Given the description of an element on the screen output the (x, y) to click on. 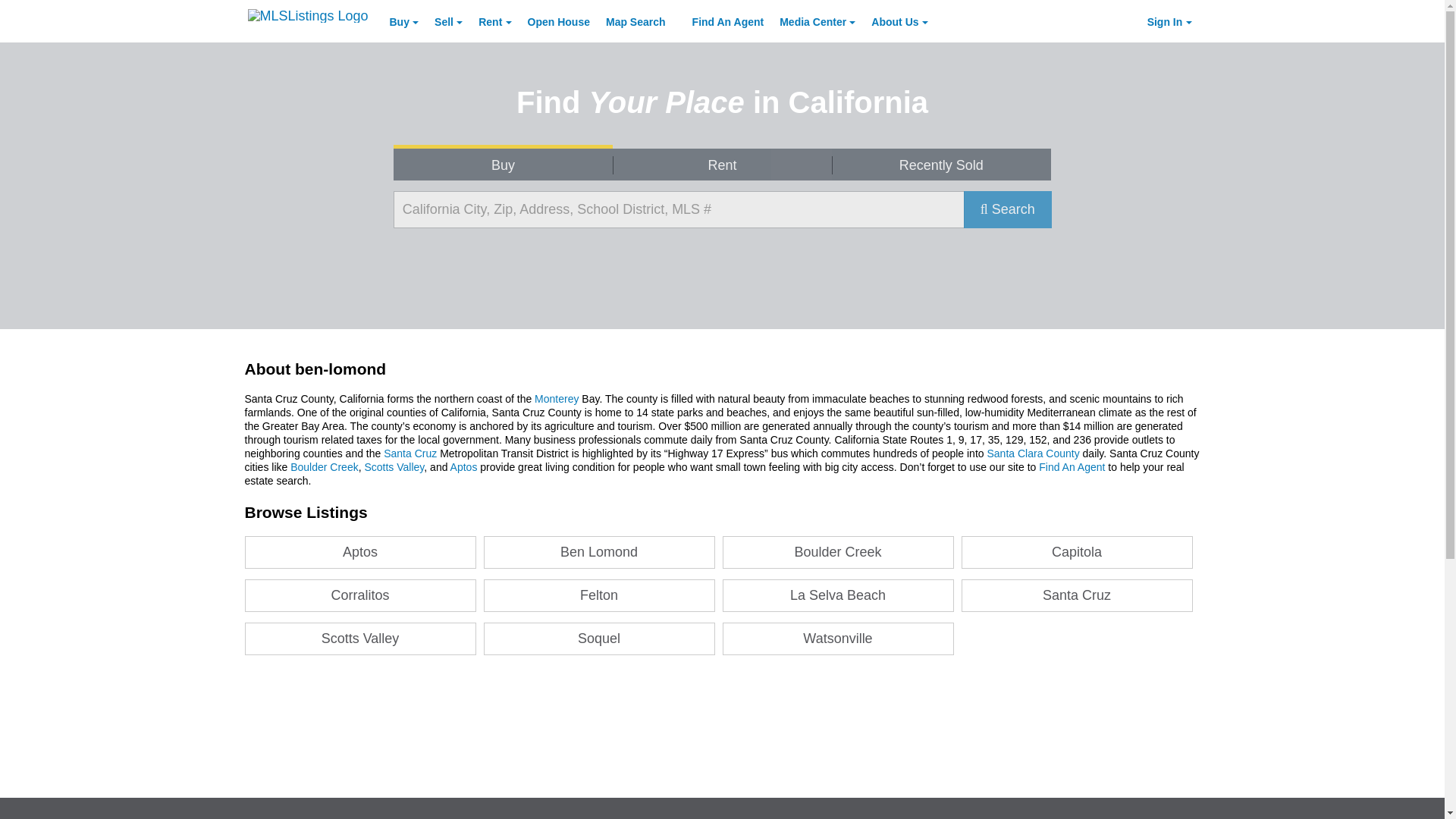
Search for Properties Using an Interactive Map (635, 19)
Search for Properties with Upcoming Open House Scheduled (558, 19)
Rent (721, 164)
Learn More about MLSListings (898, 24)
Search for Properties Recently Sold (941, 164)
Sign In (1169, 24)
Press Releases and Market Information (817, 24)
Media Center (817, 24)
Open House (558, 19)
Find An Agent (728, 19)
Search for Properties to Rent (721, 164)
About Us (898, 24)
Search for Properties to Buy (502, 164)
Buy (502, 164)
Recently Sold (941, 164)
